Given the description of an element on the screen output the (x, y) to click on. 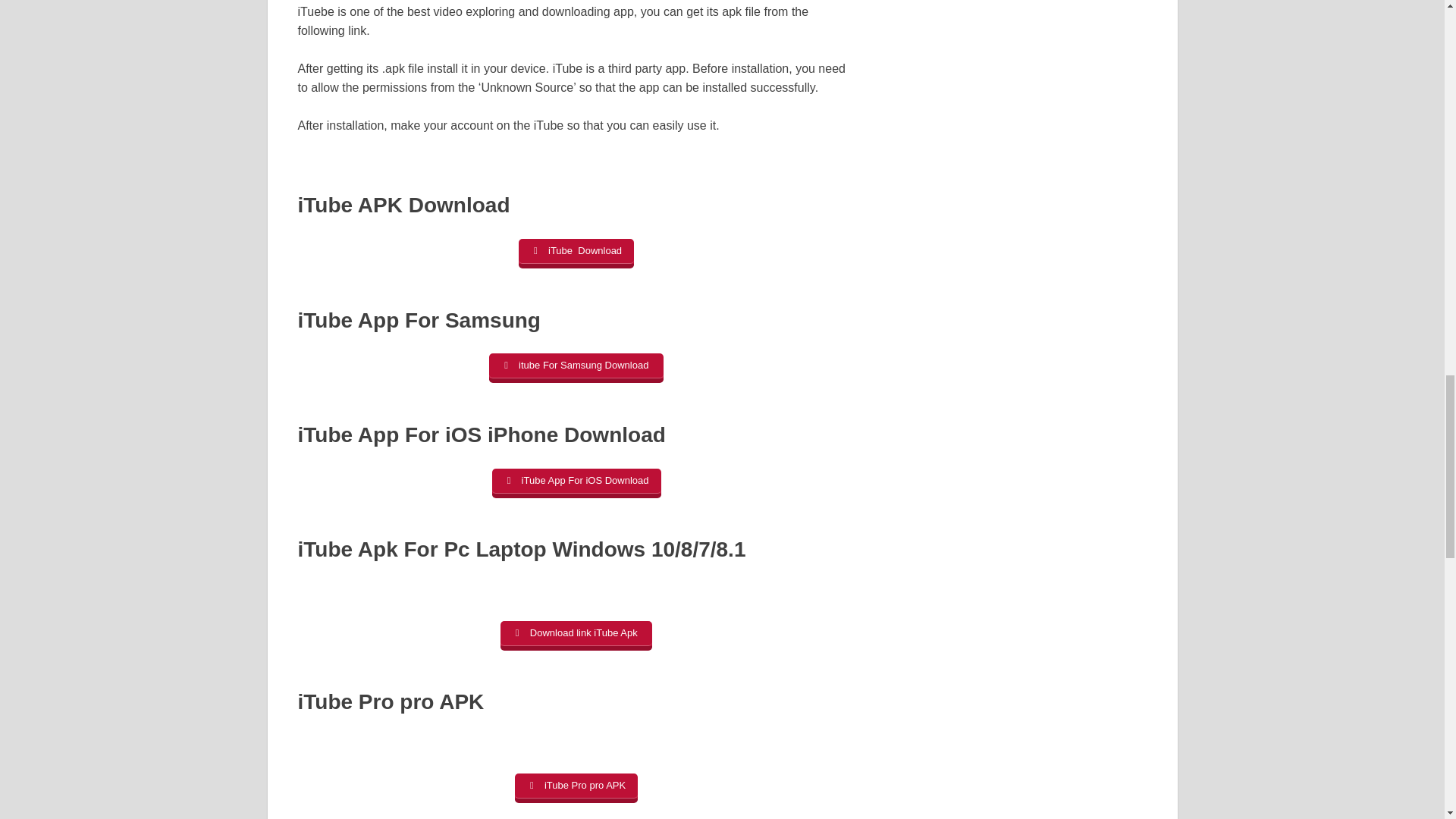
Download link iTube Apk  (576, 635)
iTube App For iOS Download (576, 482)
itube For Samsung Download  (576, 367)
iTube  Download (575, 253)
iTube Pro pro APK (576, 788)
